Given the description of an element on the screen output the (x, y) to click on. 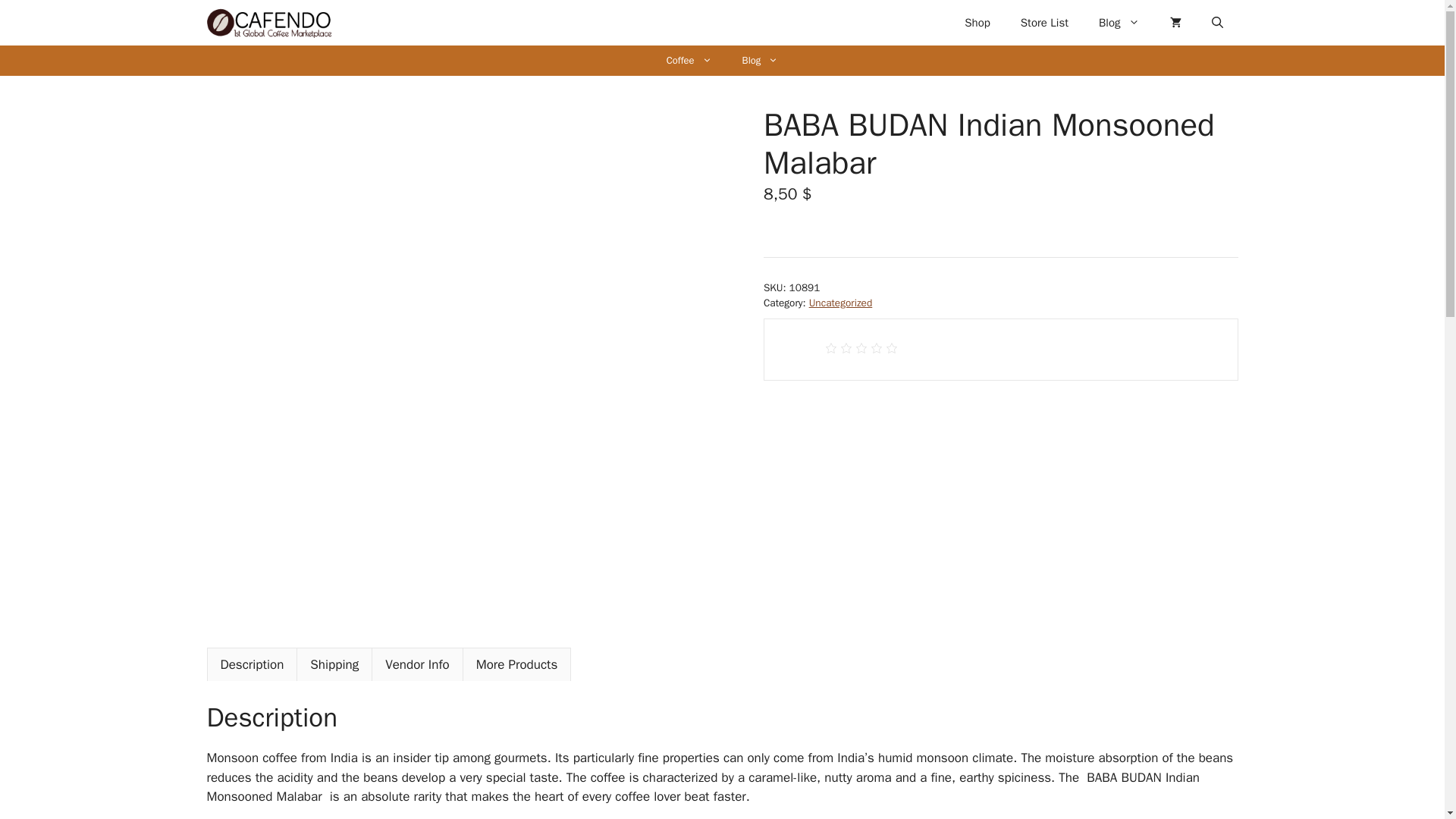
Shop (977, 22)
Coffee (688, 60)
Cafendo (268, 22)
Store List (1044, 22)
View your shopping cart (1174, 22)
Blog (1118, 22)
